Given the description of an element on the screen output the (x, y) to click on. 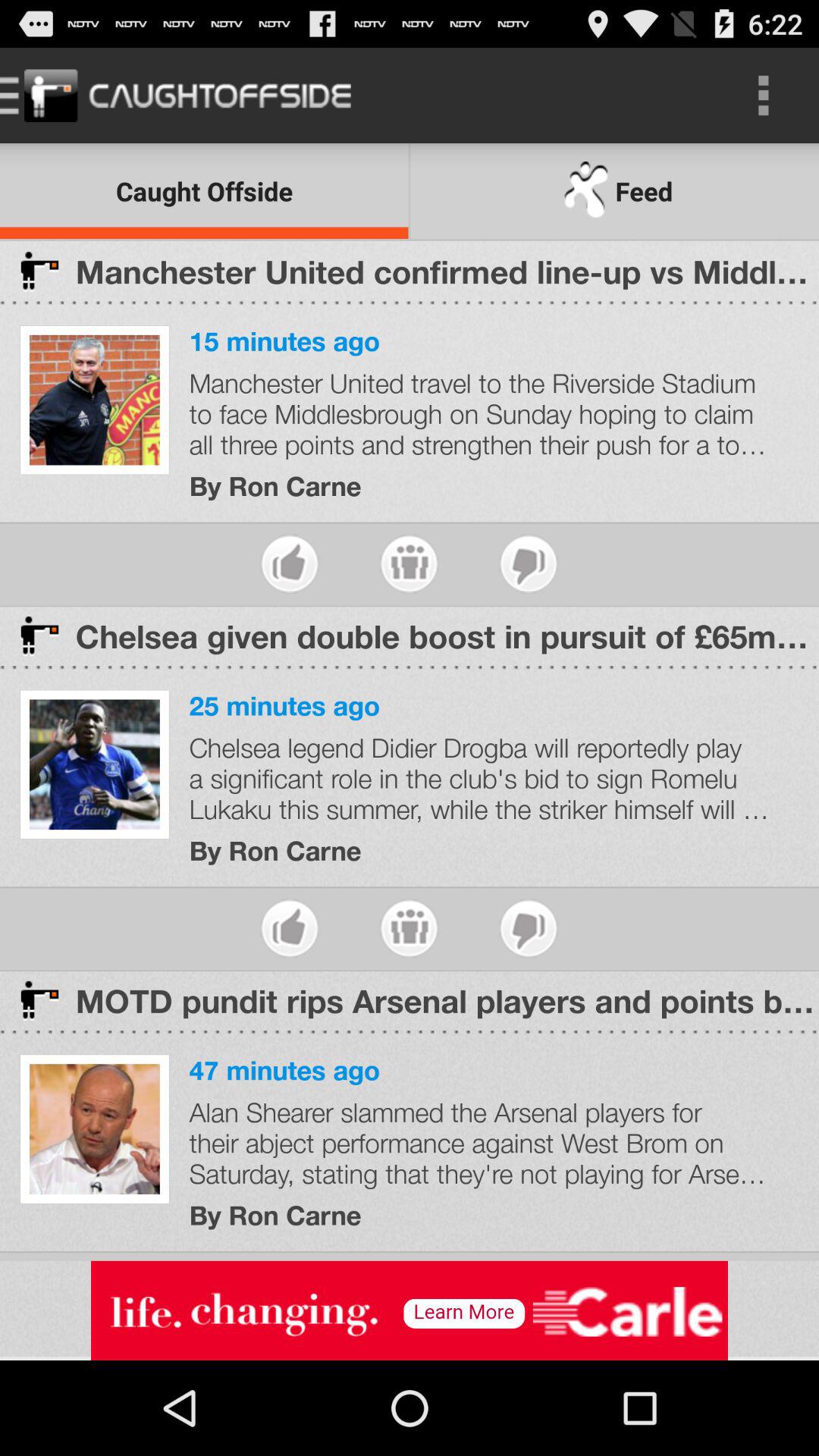
like the feedback (528, 563)
